Given the description of an element on the screen output the (x, y) to click on. 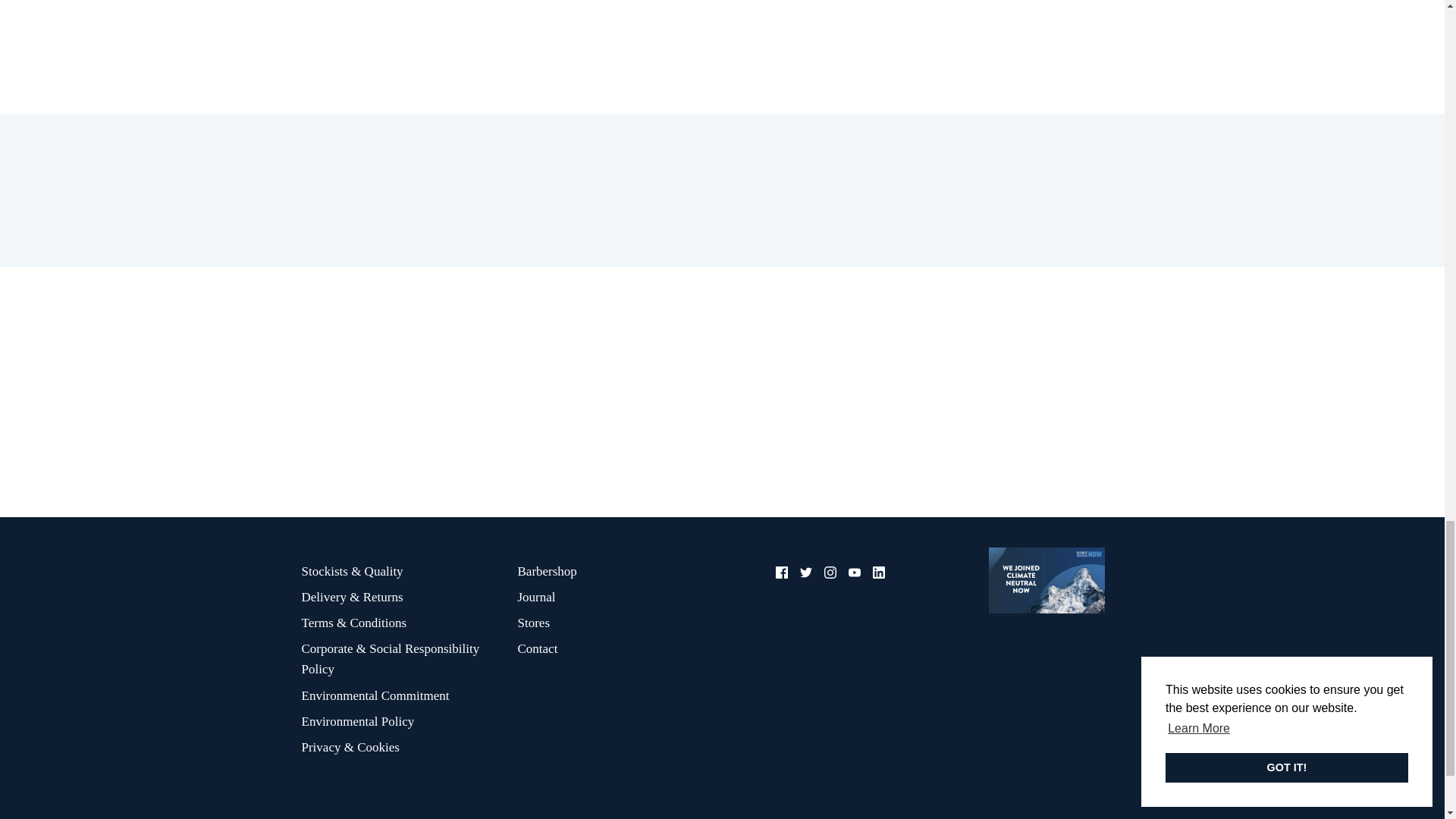
Instagram icon (829, 572)
Facebook icon (781, 572)
YouTube icon (854, 572)
Twitter icon (805, 572)
LinkedIn icon (878, 572)
